Given the description of an element on the screen output the (x, y) to click on. 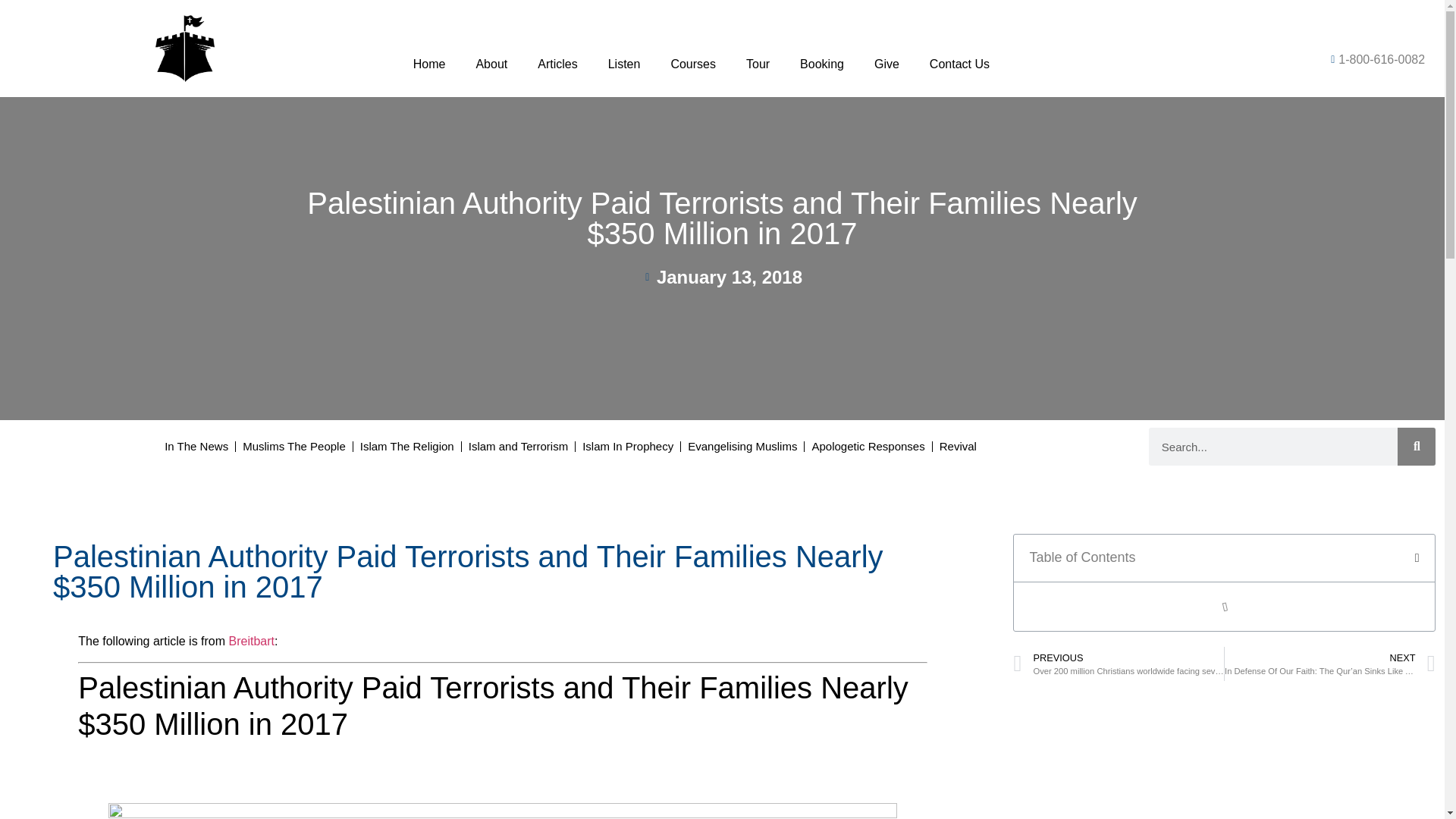
Give (886, 63)
Contact Us (959, 63)
Islam In Prophecy (627, 446)
January 13, 2018 (722, 277)
1-800-616-0082 (1290, 59)
Islam and Terrorism (518, 446)
Muslims The People (293, 446)
Courses (692, 63)
About (491, 63)
Listen (624, 63)
